Given the description of an element on the screen output the (x, y) to click on. 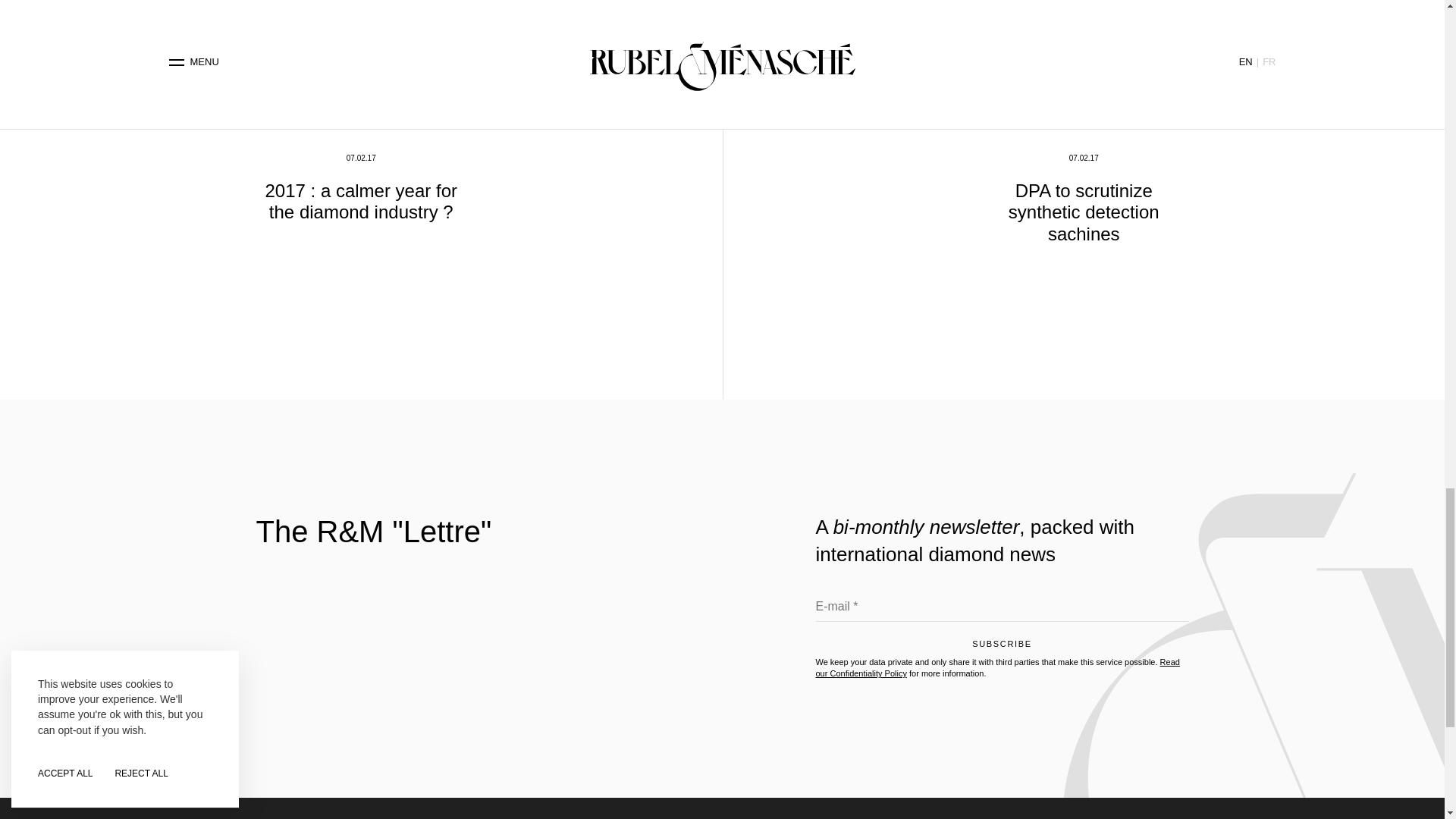
2017 : a calmer year for the diamond industry ? (360, 201)
Subscribe (1002, 647)
Subscribe (1002, 647)
E-mail (1002, 609)
Read our Confidentiality Policy (997, 667)
DPA to scrutinize synthetic detection sachines (1083, 212)
